Given the description of an element on the screen output the (x, y) to click on. 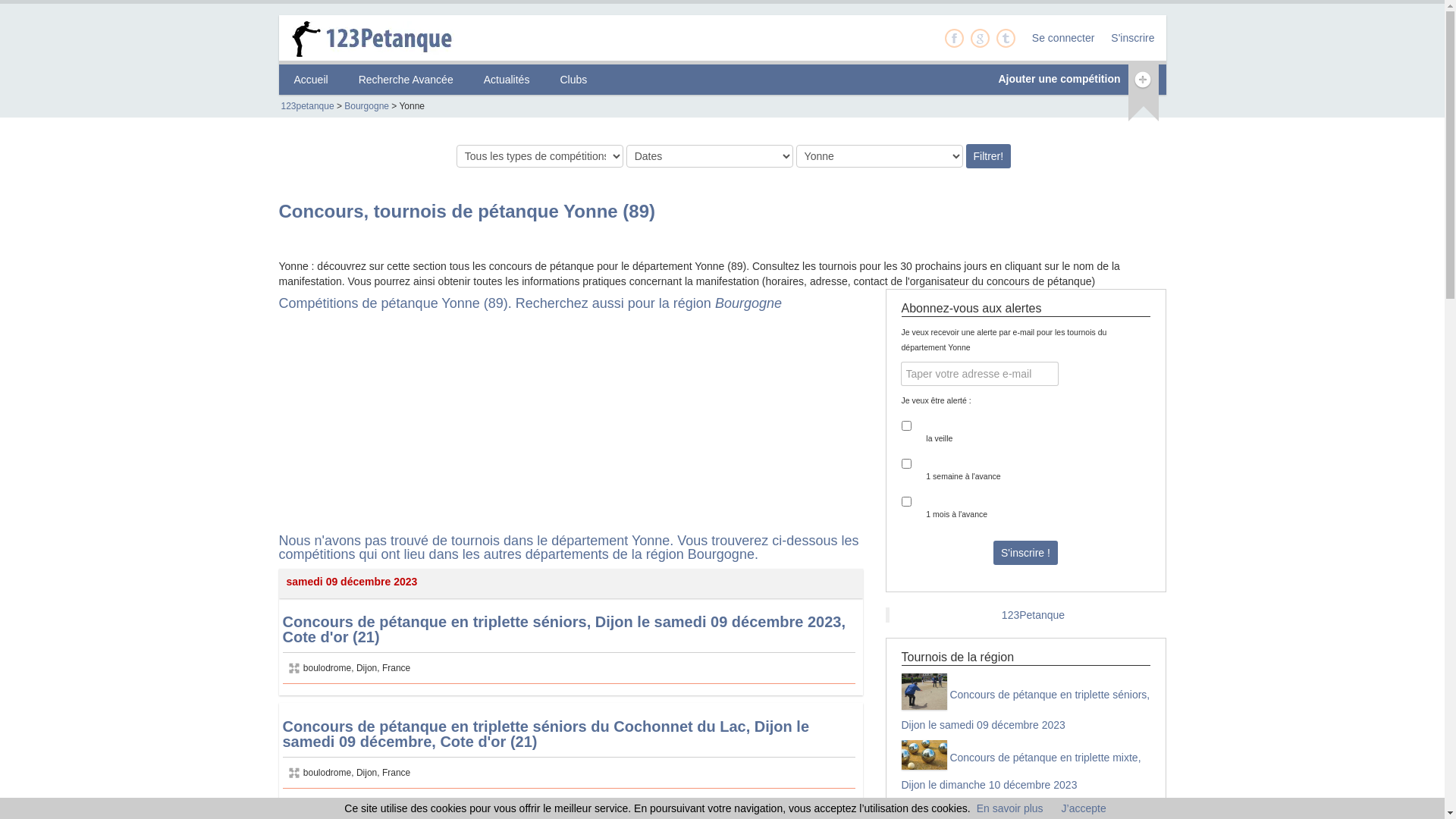
Filtrer! Element type: text (988, 156)
S'inscrire ! Element type: text (1025, 552)
Advertisement Element type: hover (392, 427)
Clubs Element type: text (573, 79)
123Petanque Element type: text (1032, 614)
En savoir plus Element type: text (1009, 808)
S'inscrire Element type: text (1127, 37)
F Element type: text (953, 37)
Home Element type: hover (384, 37)
Bourgogne Element type: text (748, 302)
Accueil Element type: text (311, 79)
123petanque Element type: text (306, 105)
Se connecter Element type: text (1058, 37)
Bourgogne Element type: text (366, 105)
T Element type: text (1005, 37)
g Element type: text (979, 37)
